Given the description of an element on the screen output the (x, y) to click on. 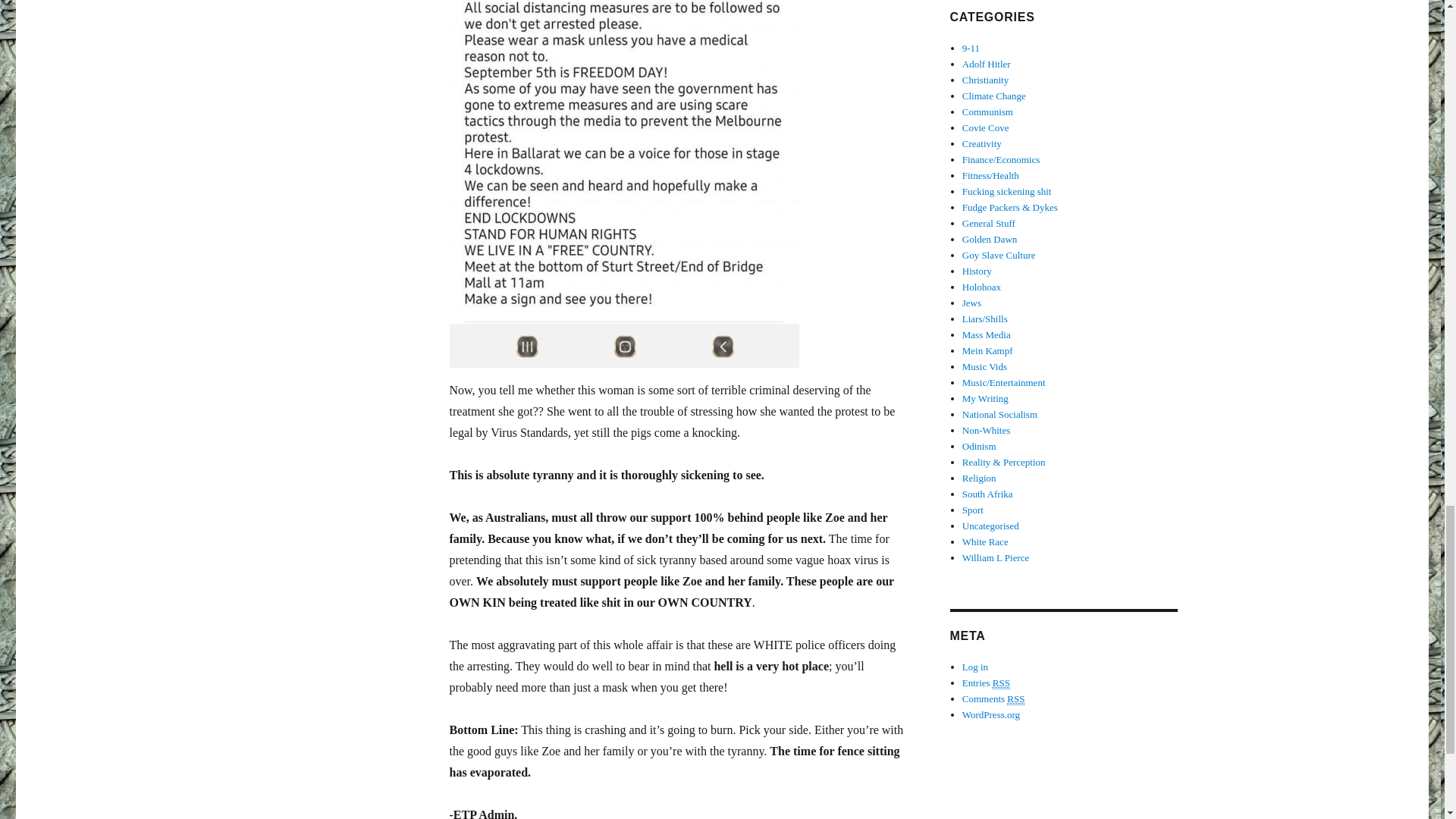
Adolf Hitler (986, 63)
Climate Change (994, 95)
Really Simple Syndication (1016, 698)
9-11 (970, 48)
Christianity (985, 79)
Really Simple Syndication (1001, 683)
